Given the description of an element on the screen output the (x, y) to click on. 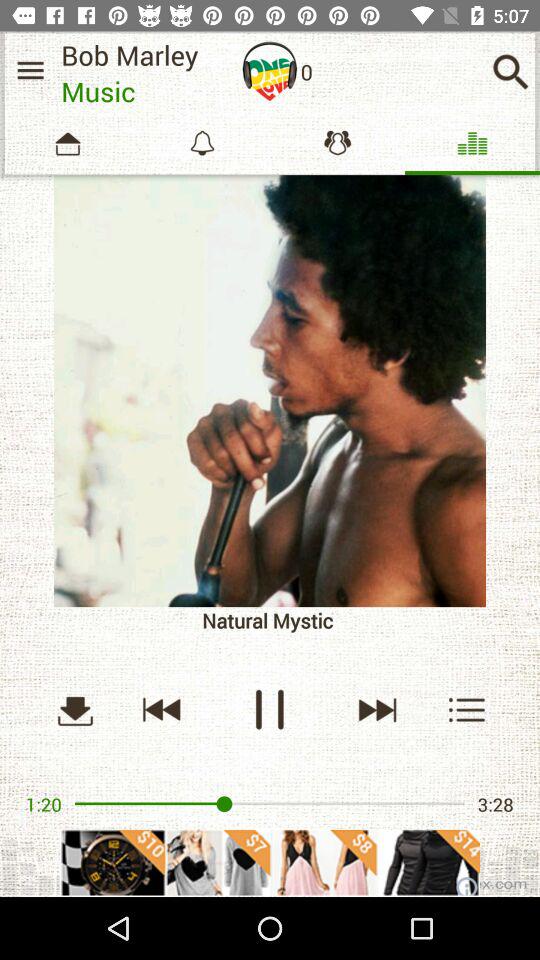
search (467, 709)
